Given the description of an element on the screen output the (x, y) to click on. 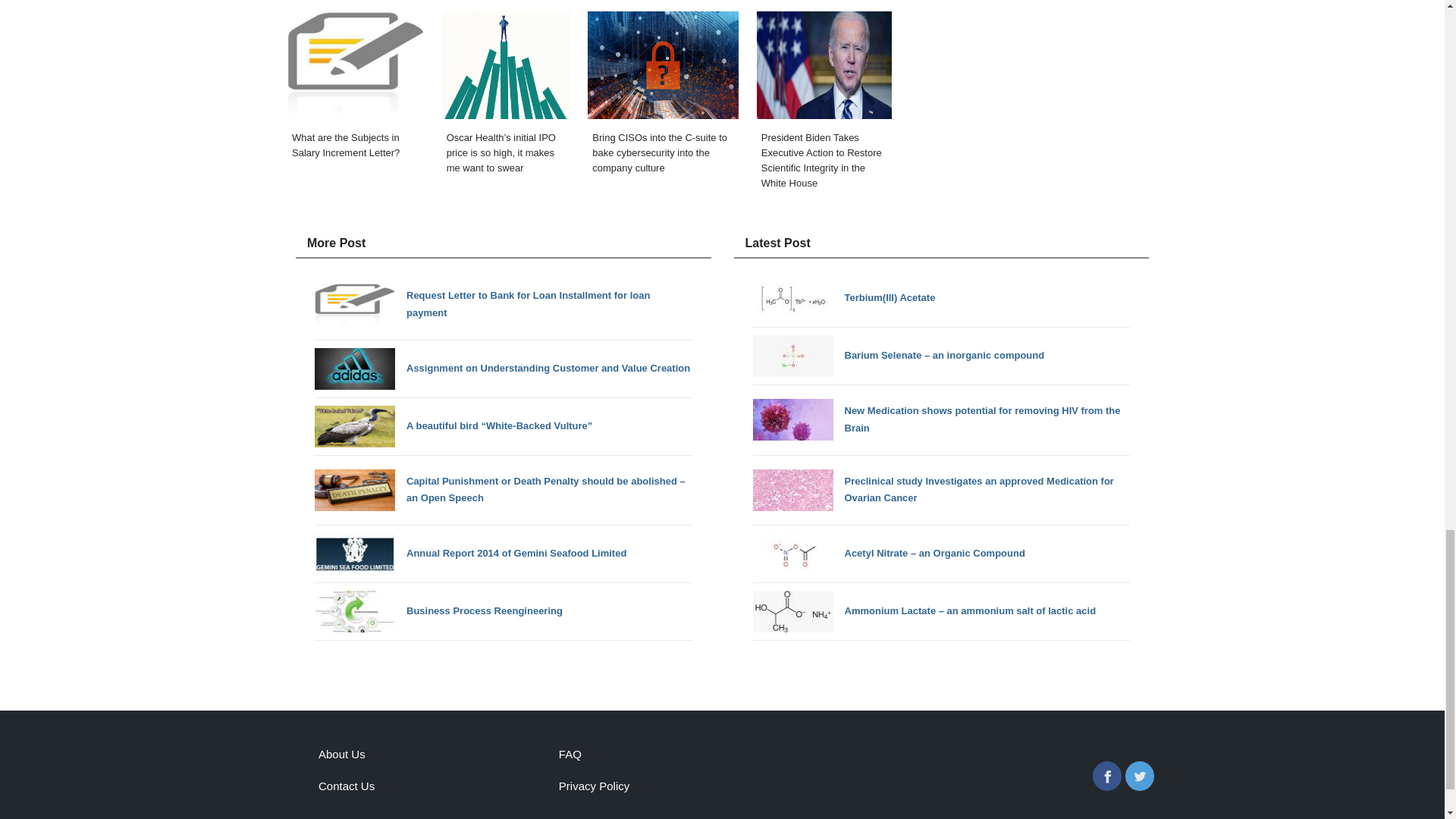
Annual Report 2014 of Gemini Seafood Limited (470, 553)
About Us (341, 753)
Business Process Reengineering (438, 611)
Request Letter to Bank for Loan Installment for loan payment (503, 304)
Assignment on Understanding Customer and Value Creation (502, 368)
Contact Us (346, 785)
